Given the description of an element on the screen output the (x, y) to click on. 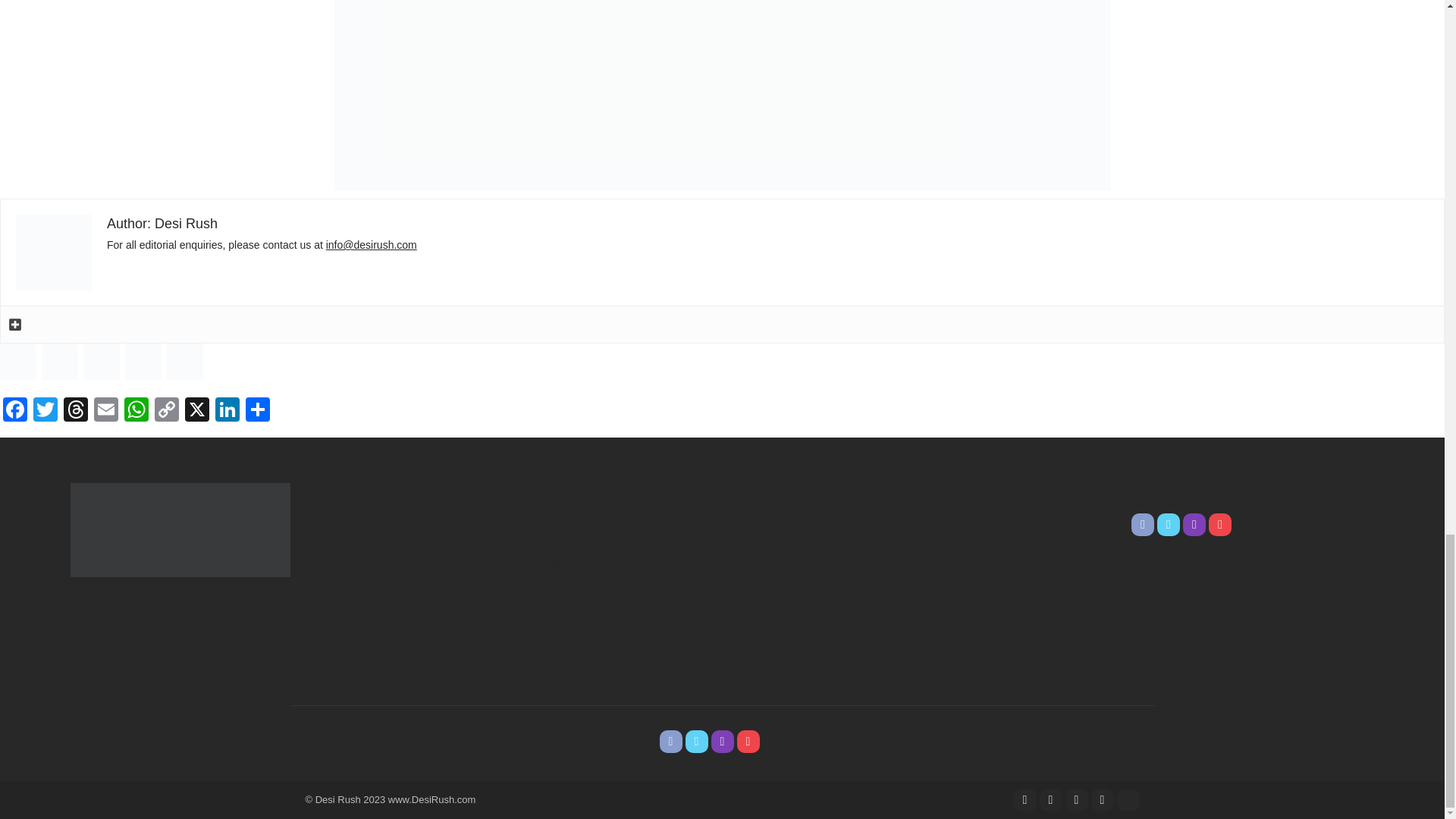
Addthis (14, 324)
Facebook (15, 411)
Share on Twitter (60, 361)
Share on Facebook (18, 361)
Author: Desi Rush (161, 223)
Share on Reddit (100, 361)
